Given the description of an element on the screen output the (x, y) to click on. 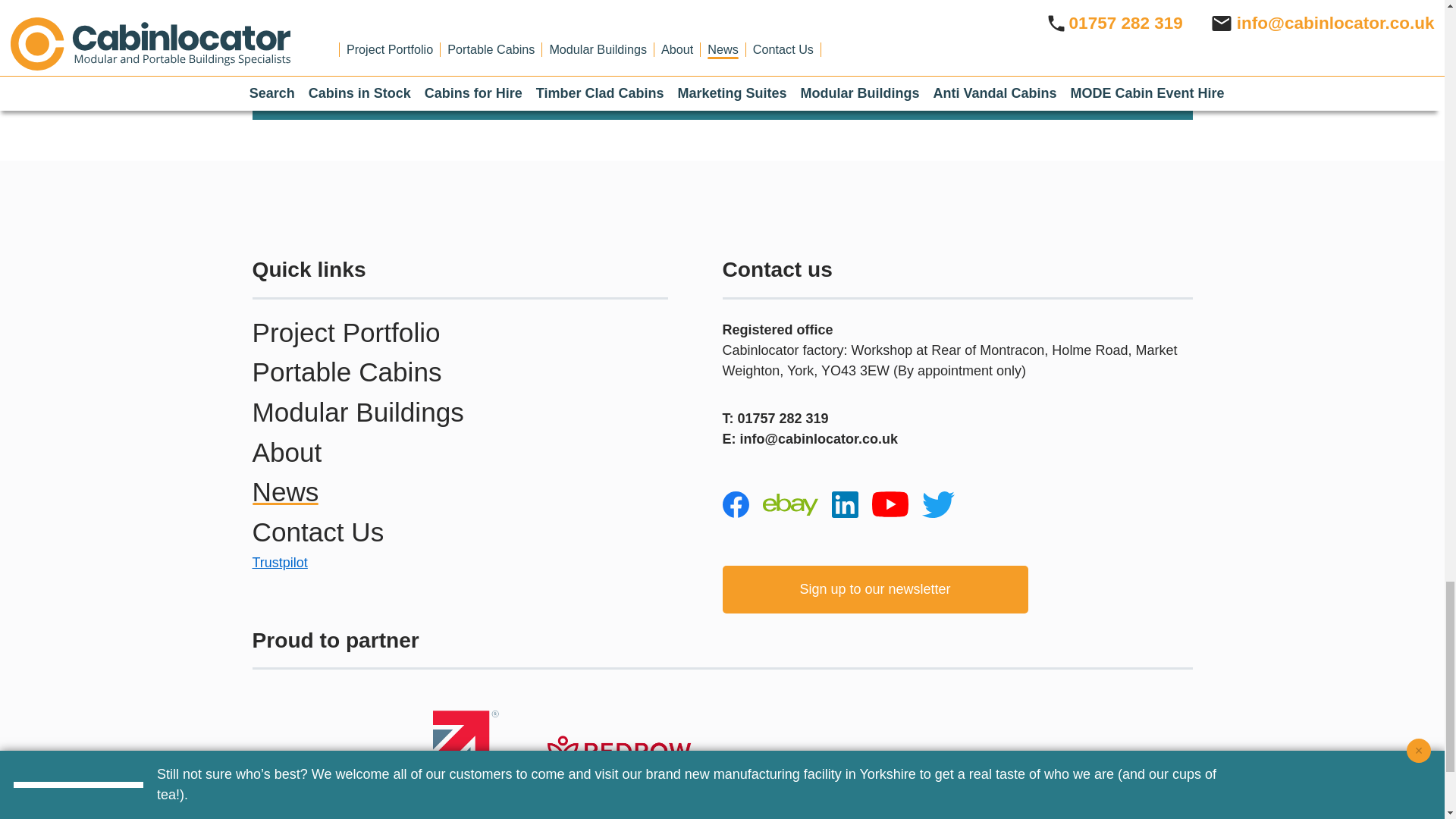
eBay icon (790, 504)
Facebook icon (735, 504)
YouTube icon (890, 504)
LinkedIn icon (844, 504)
Twitter icon (938, 504)
